Given the description of an element on the screen output the (x, y) to click on. 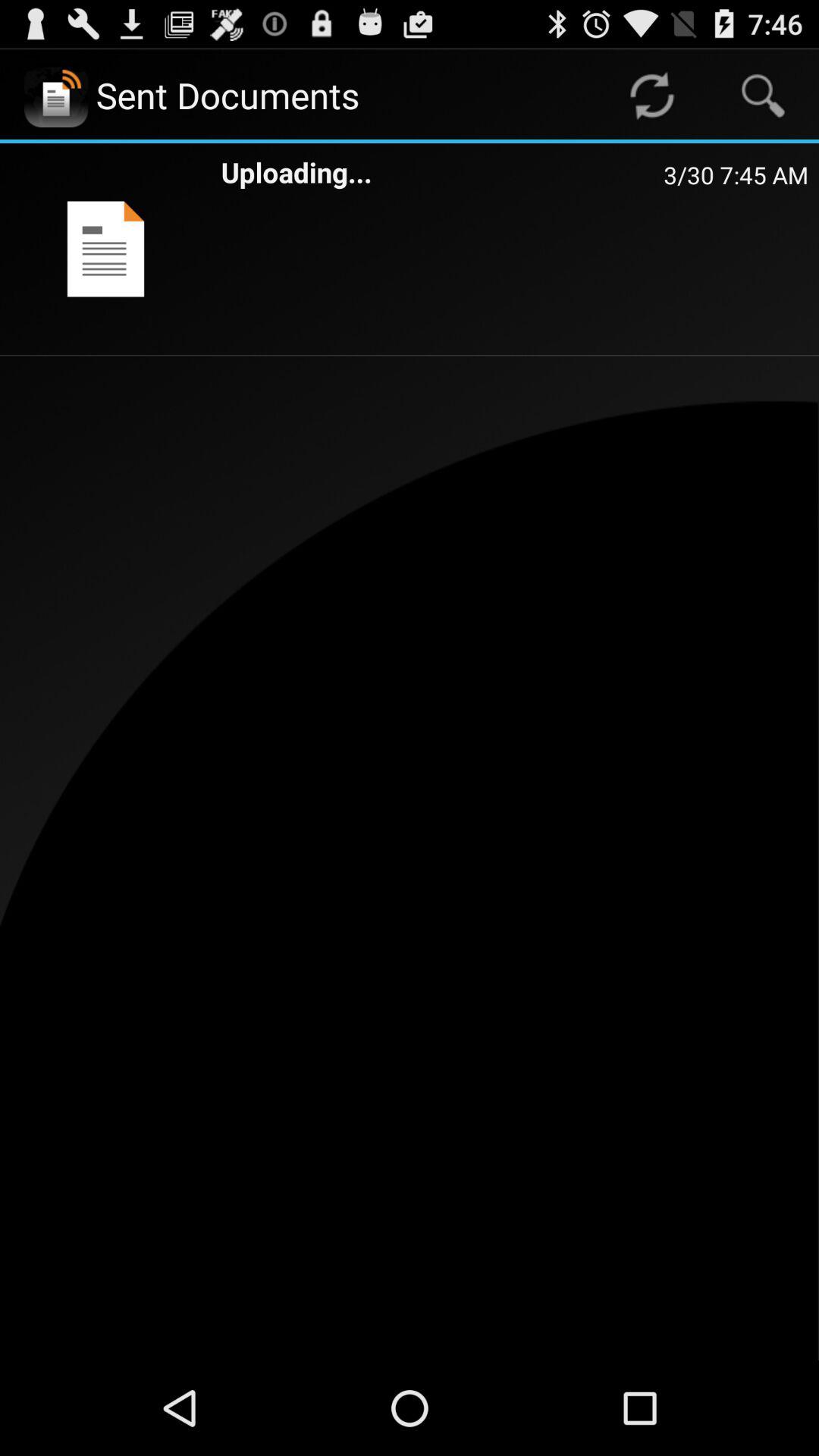
tap icon next to uploading... app (105, 248)
